Given the description of an element on the screen output the (x, y) to click on. 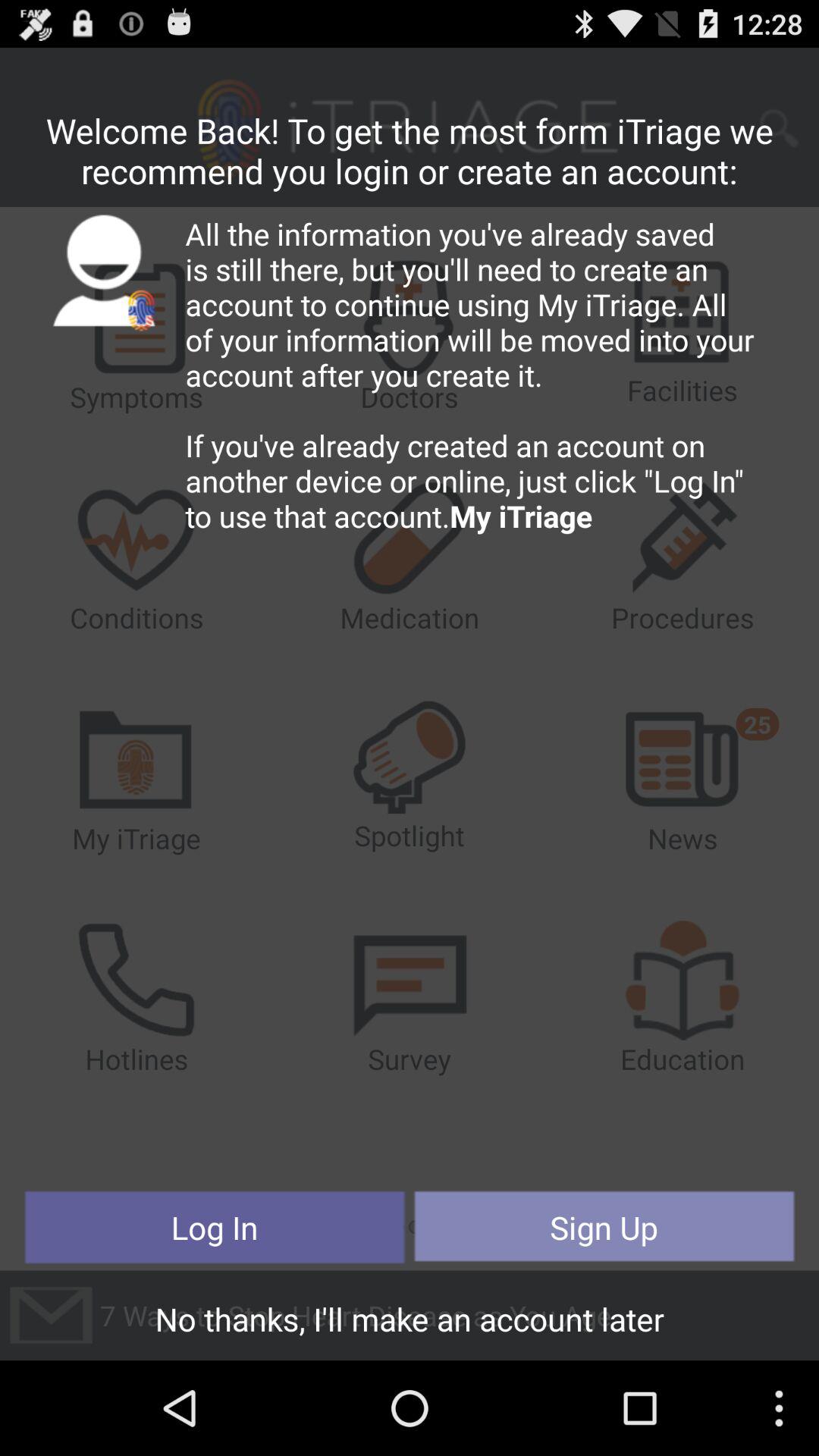
open item above the no thanks i (604, 1227)
